Given the description of an element on the screen output the (x, y) to click on. 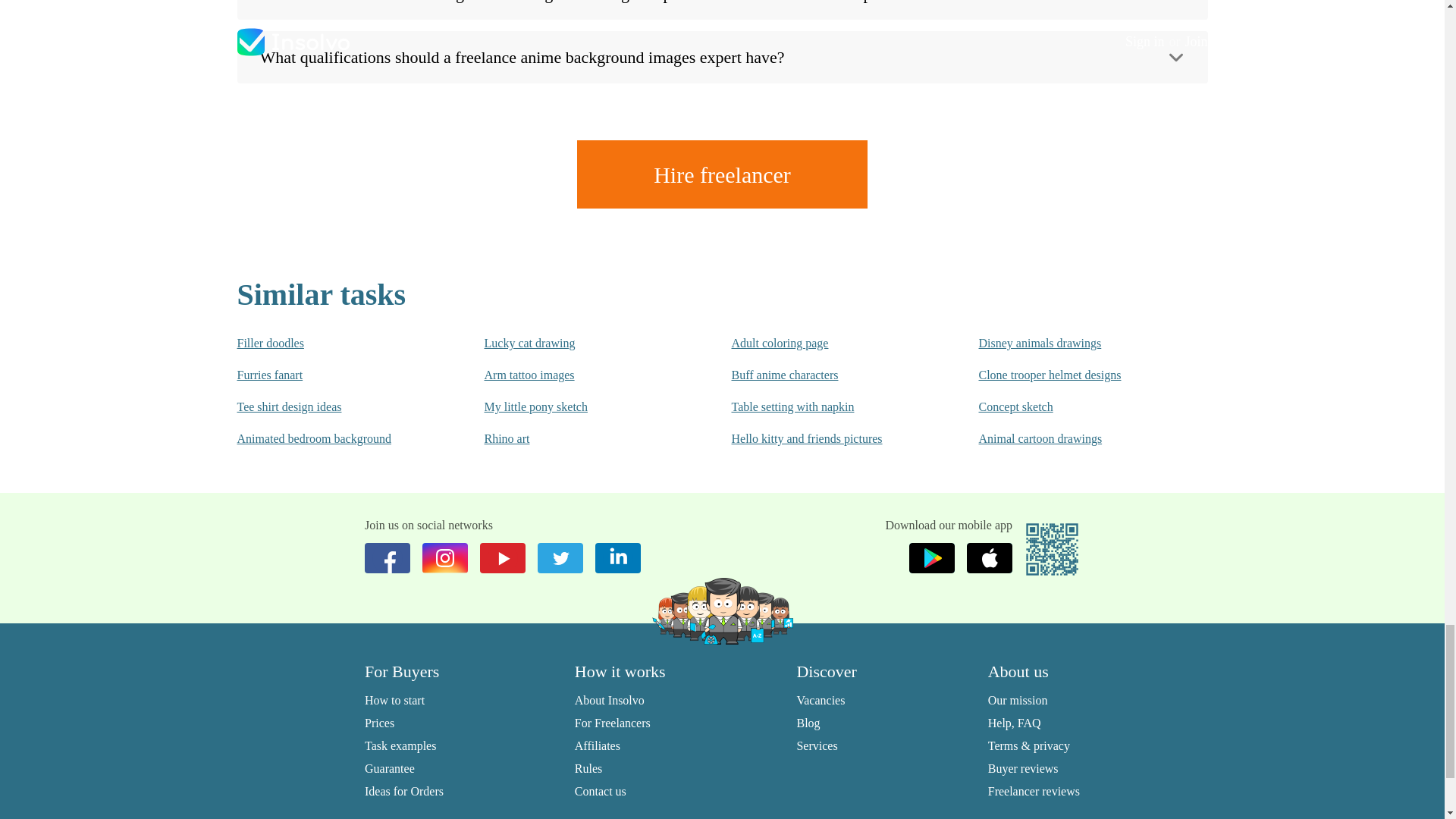
How to start (395, 699)
Arm tattoo images (576, 375)
Tee shirt design ideas (329, 406)
Hire freelancer (721, 174)
Rhino art (576, 438)
Adult coloring page (823, 343)
Table setting with napkin (823, 406)
Prices (379, 722)
Buff anime characters (823, 375)
Task examples (400, 745)
About Insolvo (610, 699)
For Freelancers (612, 722)
Filler doodles (329, 343)
My little pony sketch (576, 406)
Guarantee (389, 768)
